Given the description of an element on the screen output the (x, y) to click on. 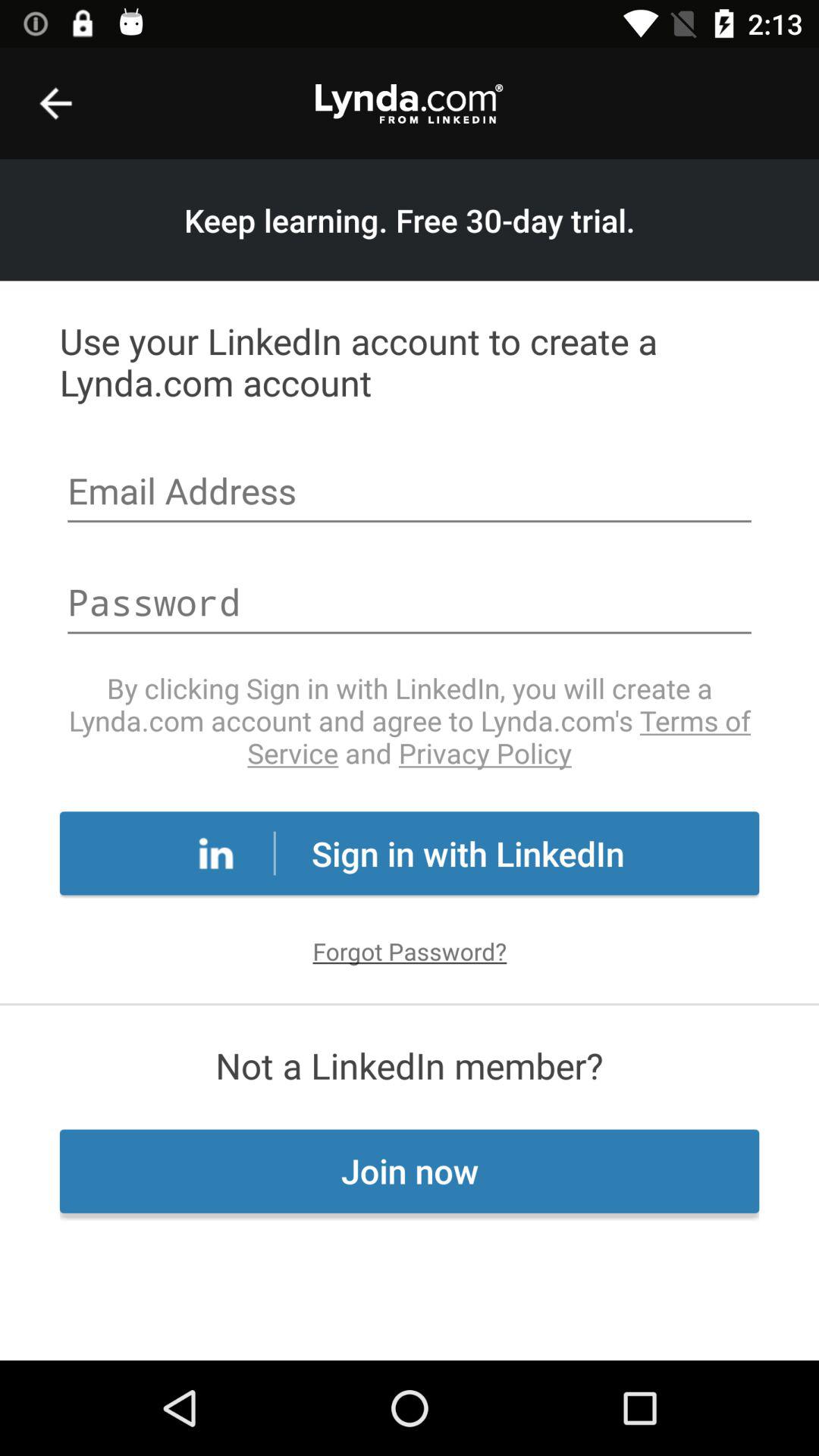
turn off icon above the keep learning free icon (55, 103)
